Given the description of an element on the screen output the (x, y) to click on. 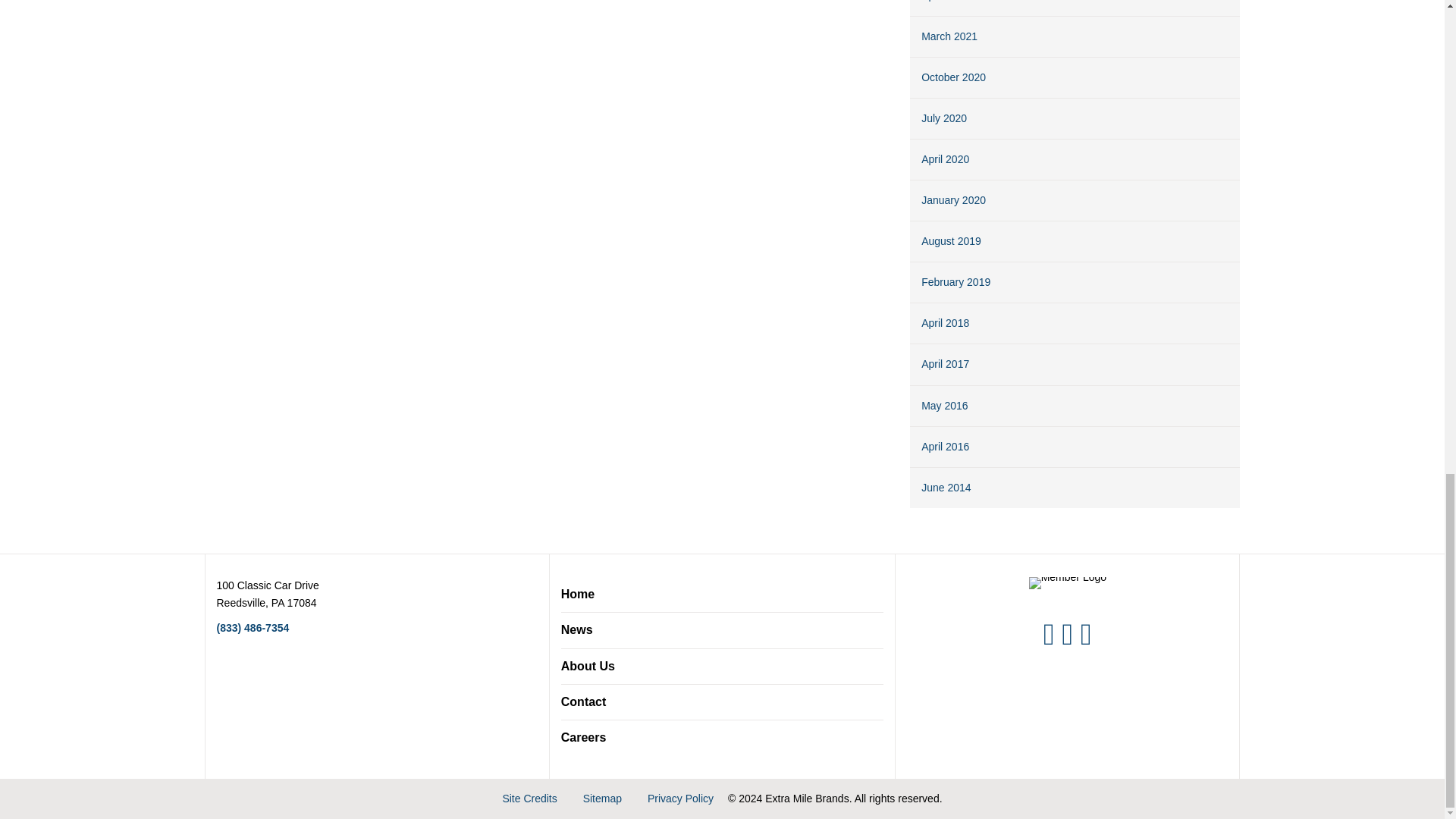
April 2021 (945, 0)
Member Logo (1067, 582)
March 2021 (948, 36)
